Given the description of an element on the screen output the (x, y) to click on. 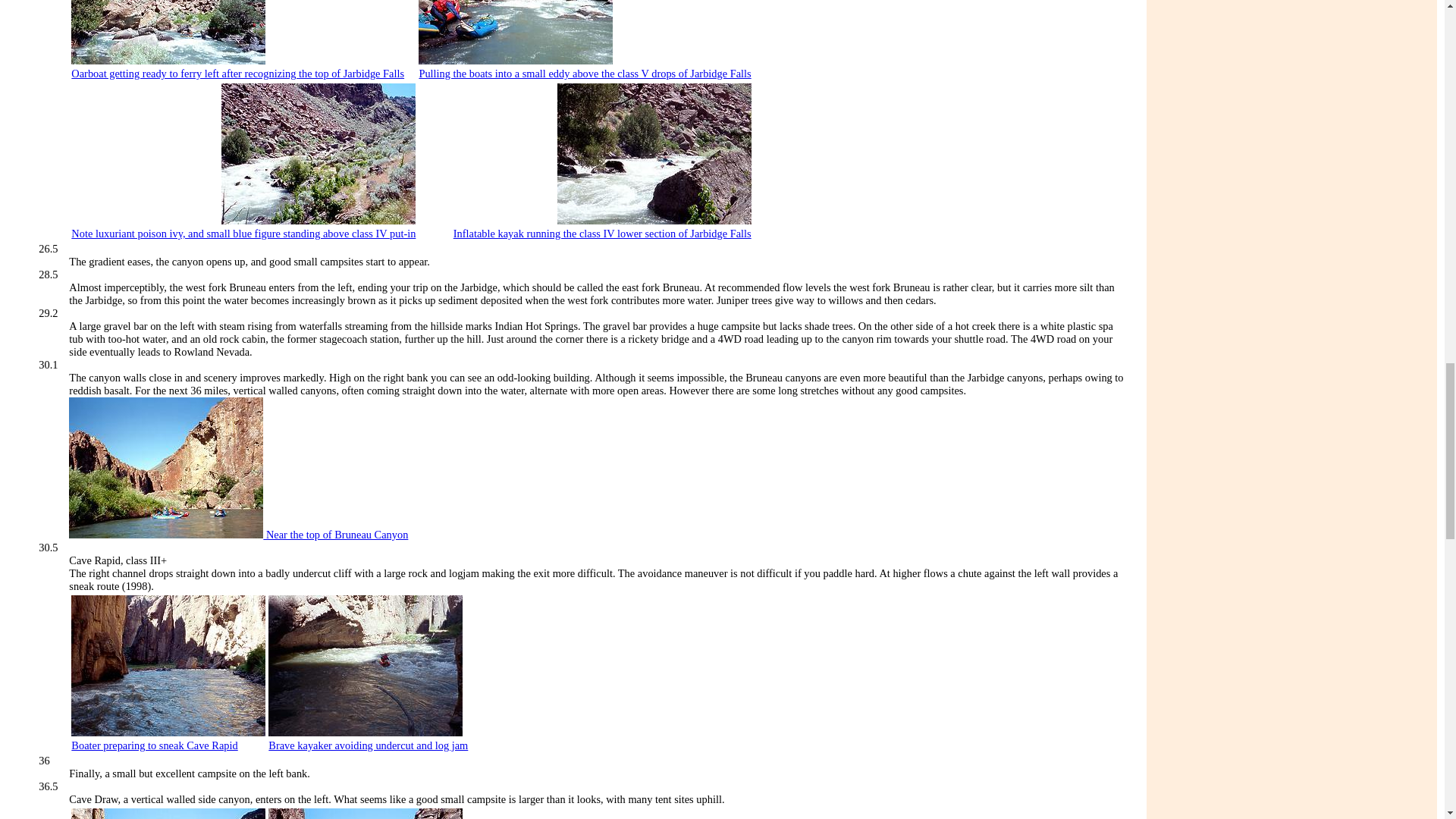
Near the top of Bruneau Canyon (237, 534)
Brave kayaker avoiding undercut and log jam (367, 745)
Boater preparing to sneak Cave Rapid (154, 745)
